Given the description of an element on the screen output the (x, y) to click on. 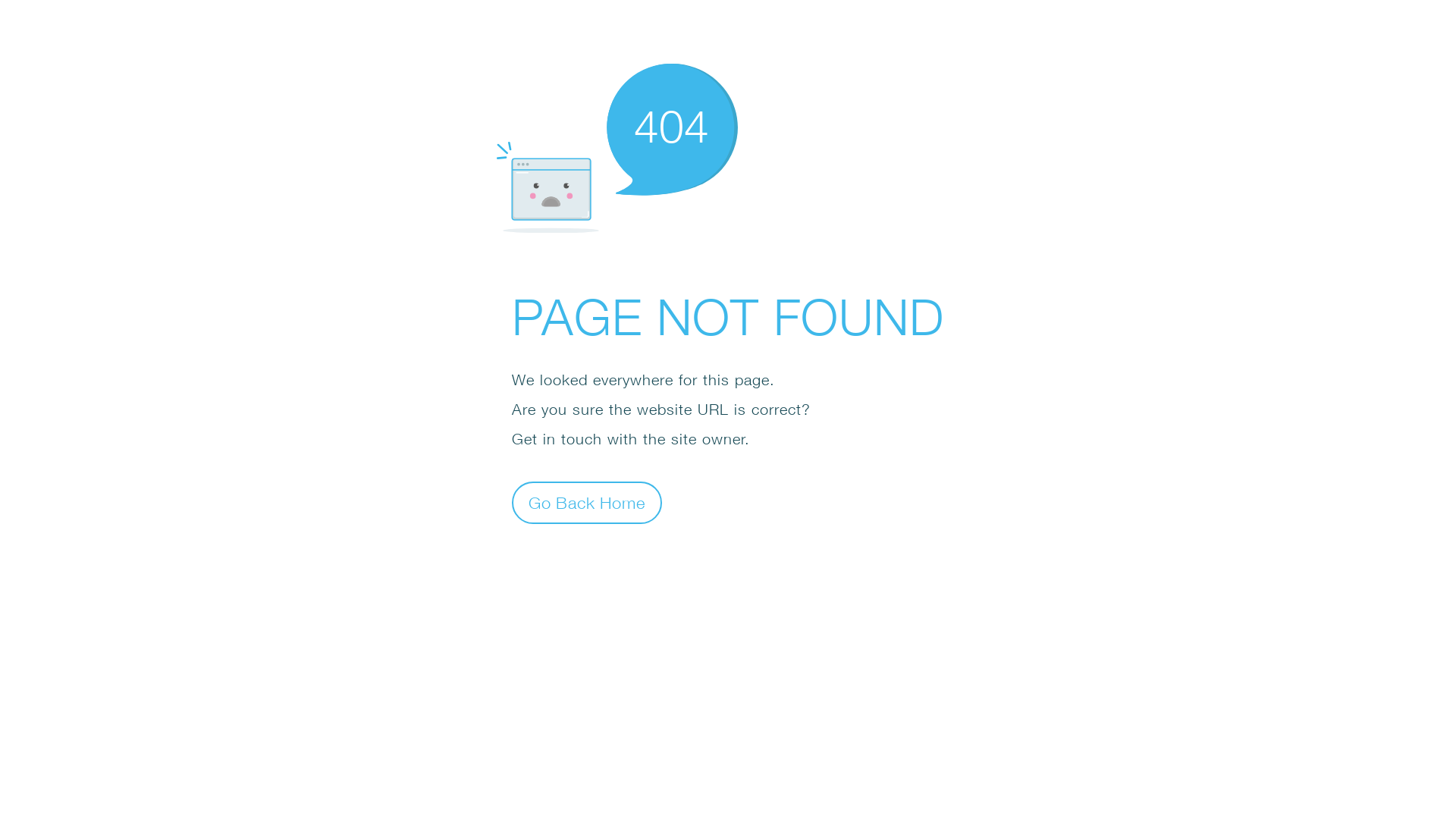
Go Back Home Element type: text (586, 502)
